Given the description of an element on the screen output the (x, y) to click on. 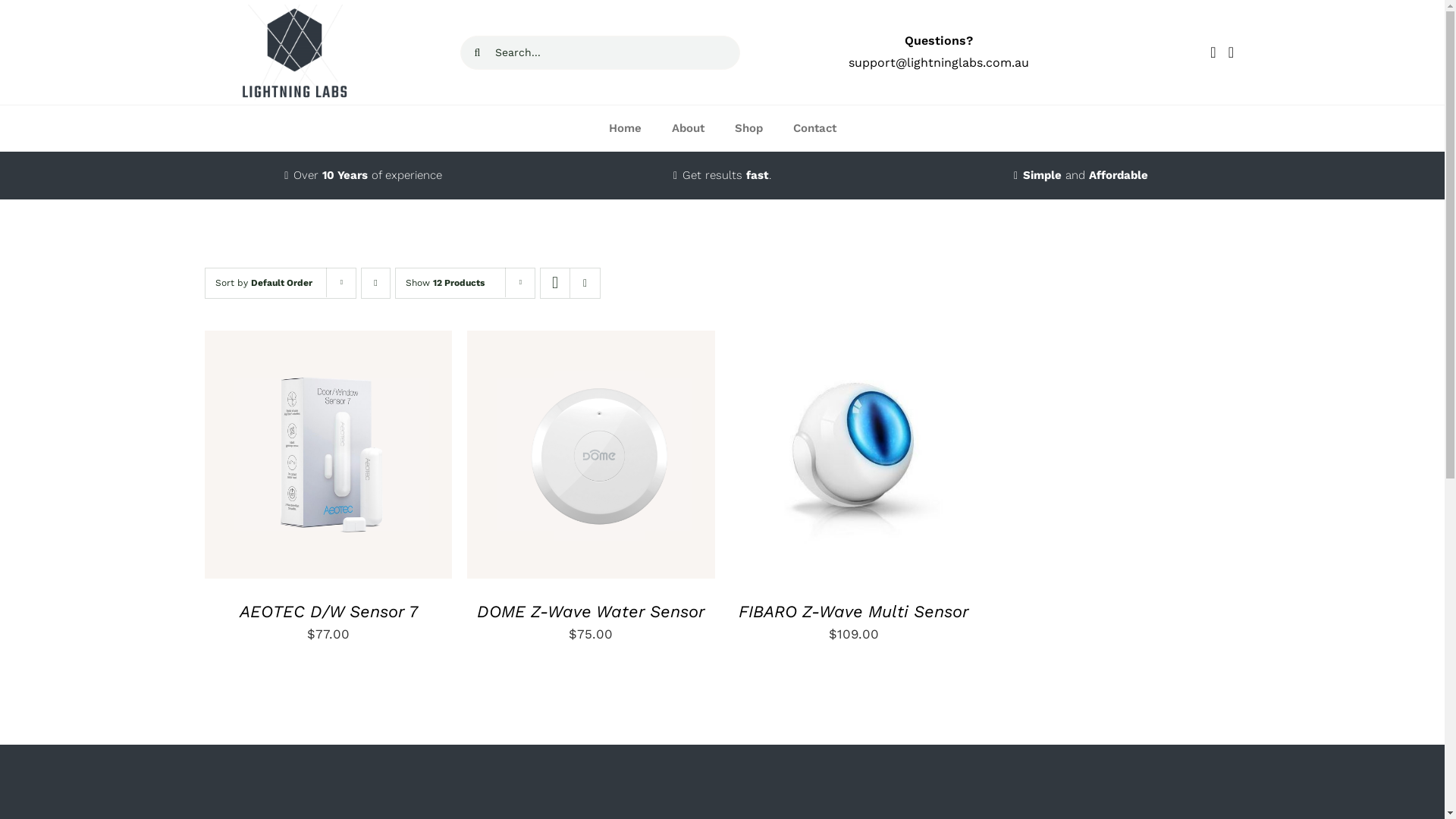
About Element type: text (687, 128)
Log In Element type: text (1192, 221)
AEOTEC D/W Sensor 7 Element type: text (328, 611)
DOME Z-Wave Water Sensor Element type: text (590, 611)
Shop Element type: text (747, 128)
FIBARO Z-Wave Multi Sensor Element type: text (853, 611)
Show 12 Products Element type: text (444, 282)
Home Element type: text (624, 128)
Contact Element type: text (814, 128)
Sort by Default Order Element type: text (263, 282)
